Given the description of an element on the screen output the (x, y) to click on. 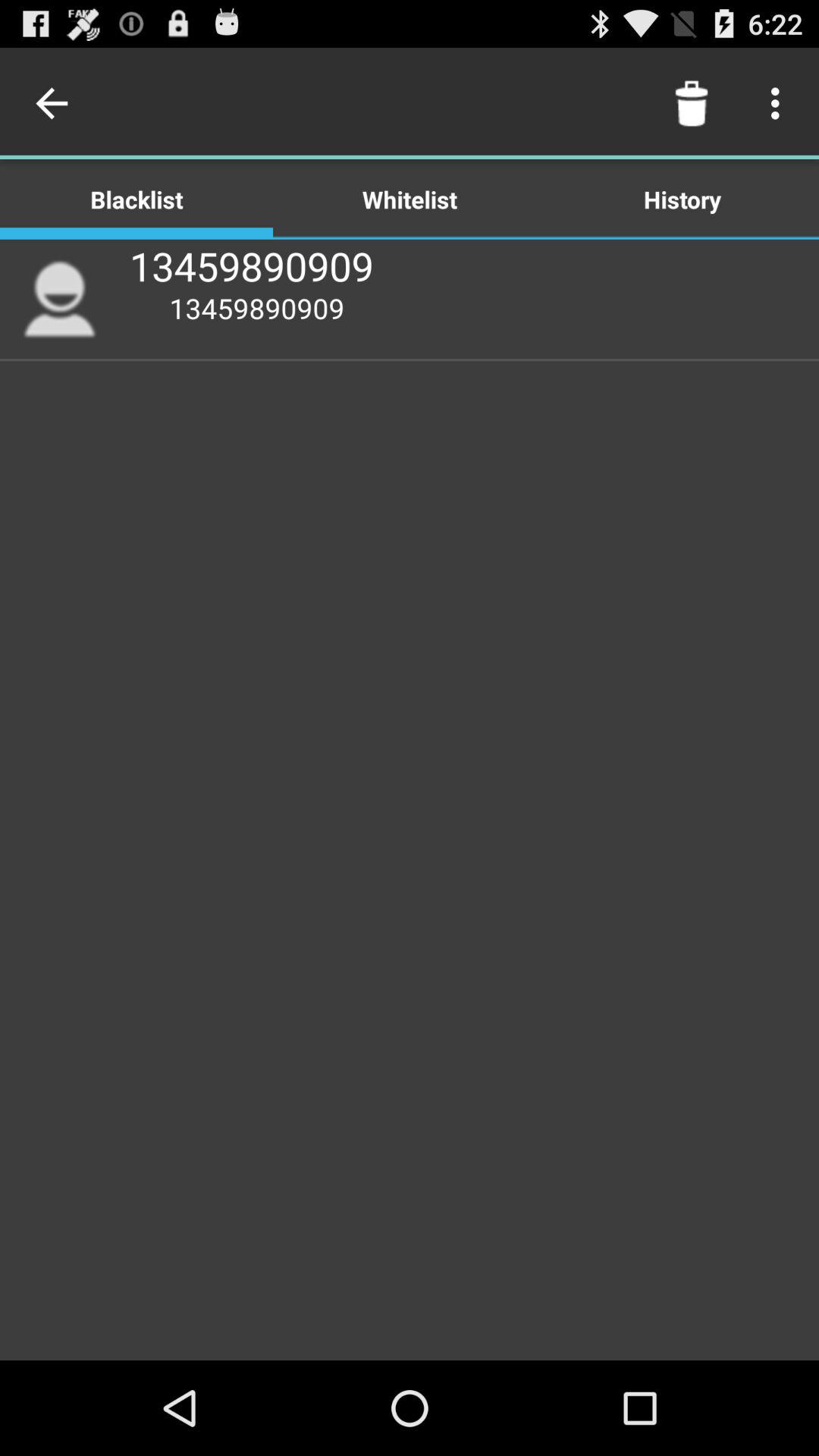
launch the item next to history icon (409, 199)
